Given the description of an element on the screen output the (x, y) to click on. 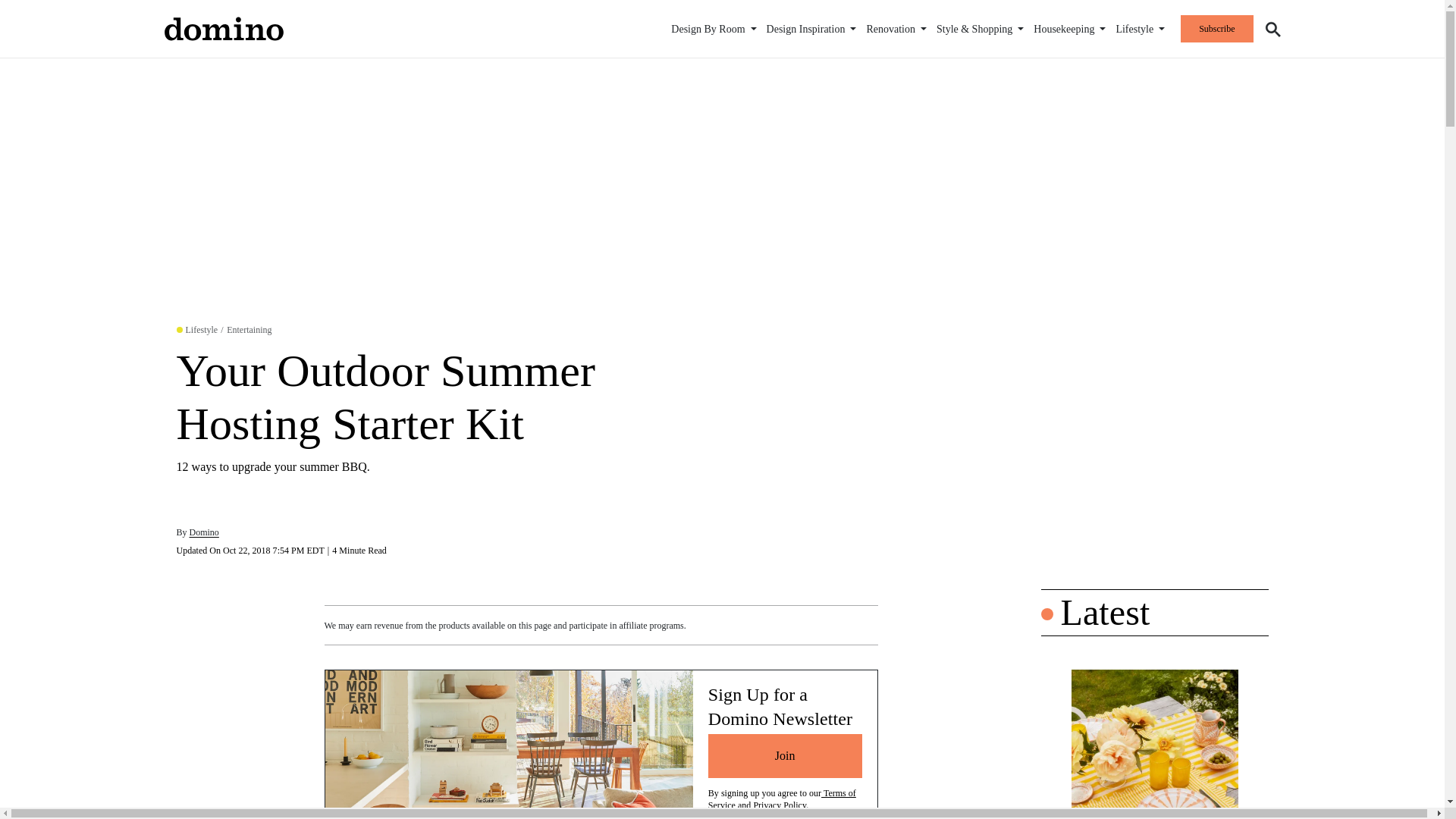
3rd party ad content (1154, 463)
